Given the description of an element on the screen output the (x, y) to click on. 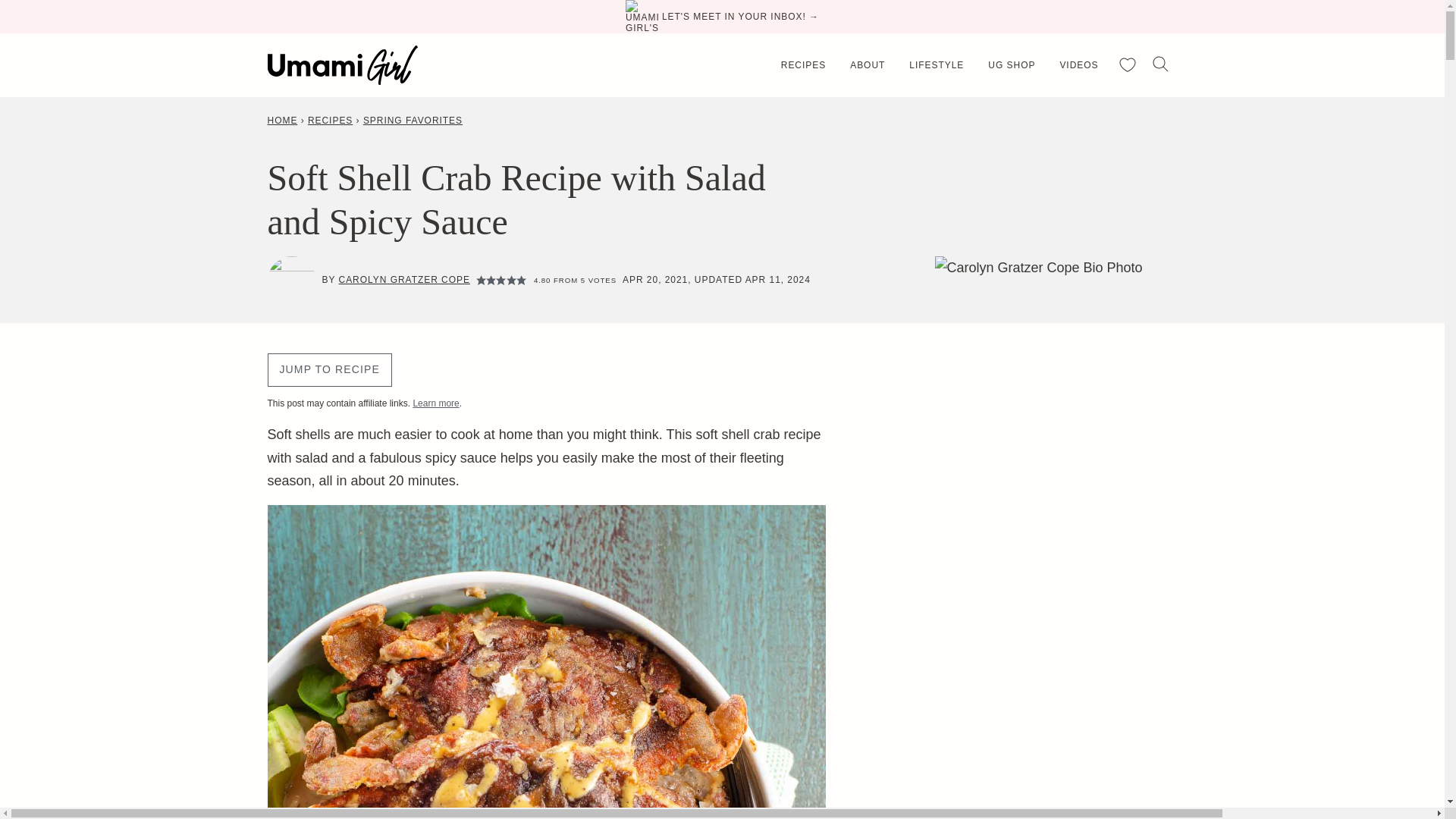
ABOUT (867, 64)
My Favorites (1125, 64)
LIFESTYLE (935, 64)
VIDEOS (1077, 64)
CAROLYN GRATZER COPE (404, 279)
RECIPES (803, 64)
SPRING FAVORITES (412, 120)
RECIPES (329, 120)
UG SHOP (1010, 64)
Learn more (435, 403)
